Given the description of an element on the screen output the (x, y) to click on. 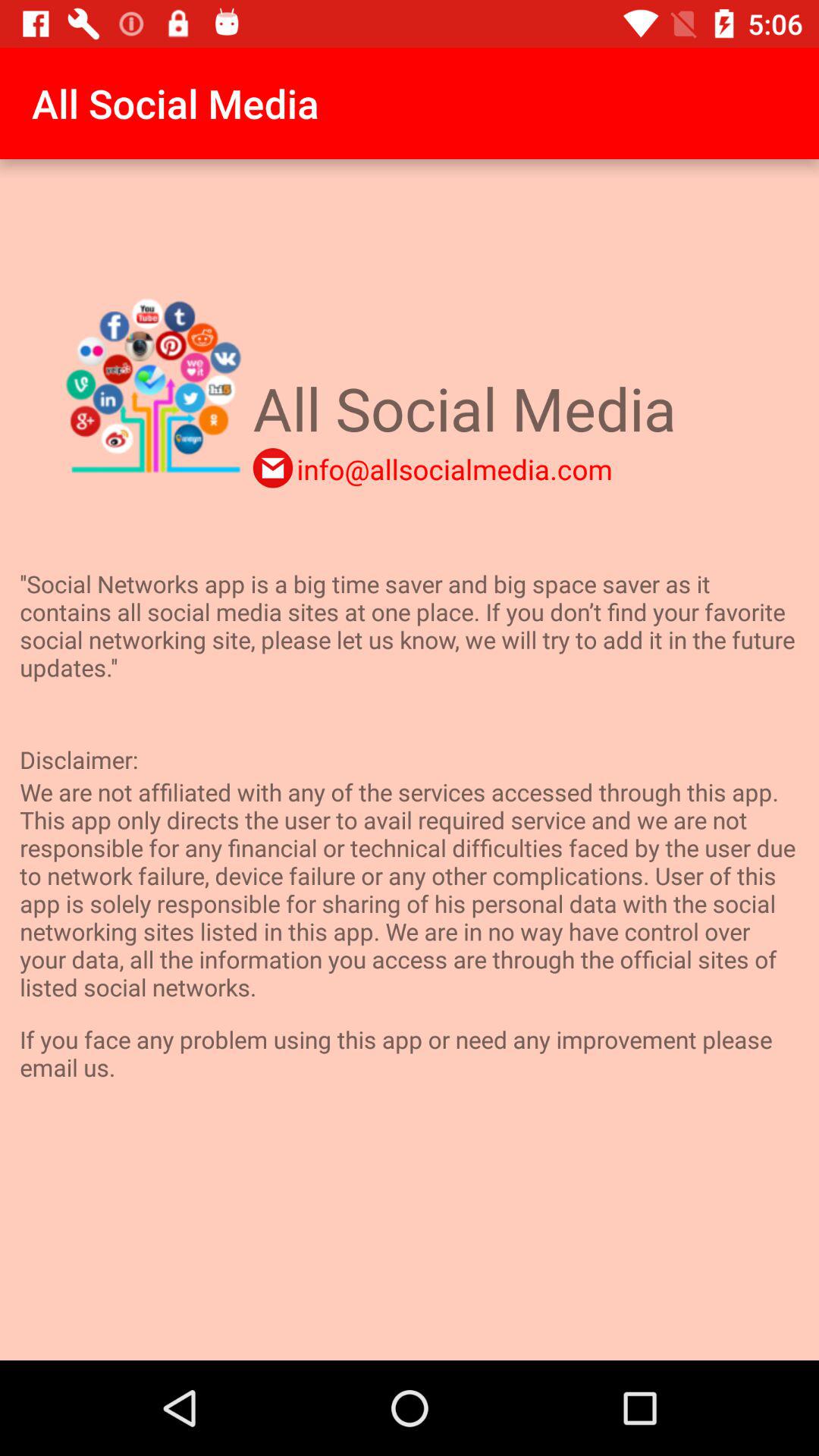
launch the icon above social networks app (454, 468)
